Given the description of an element on the screen output the (x, y) to click on. 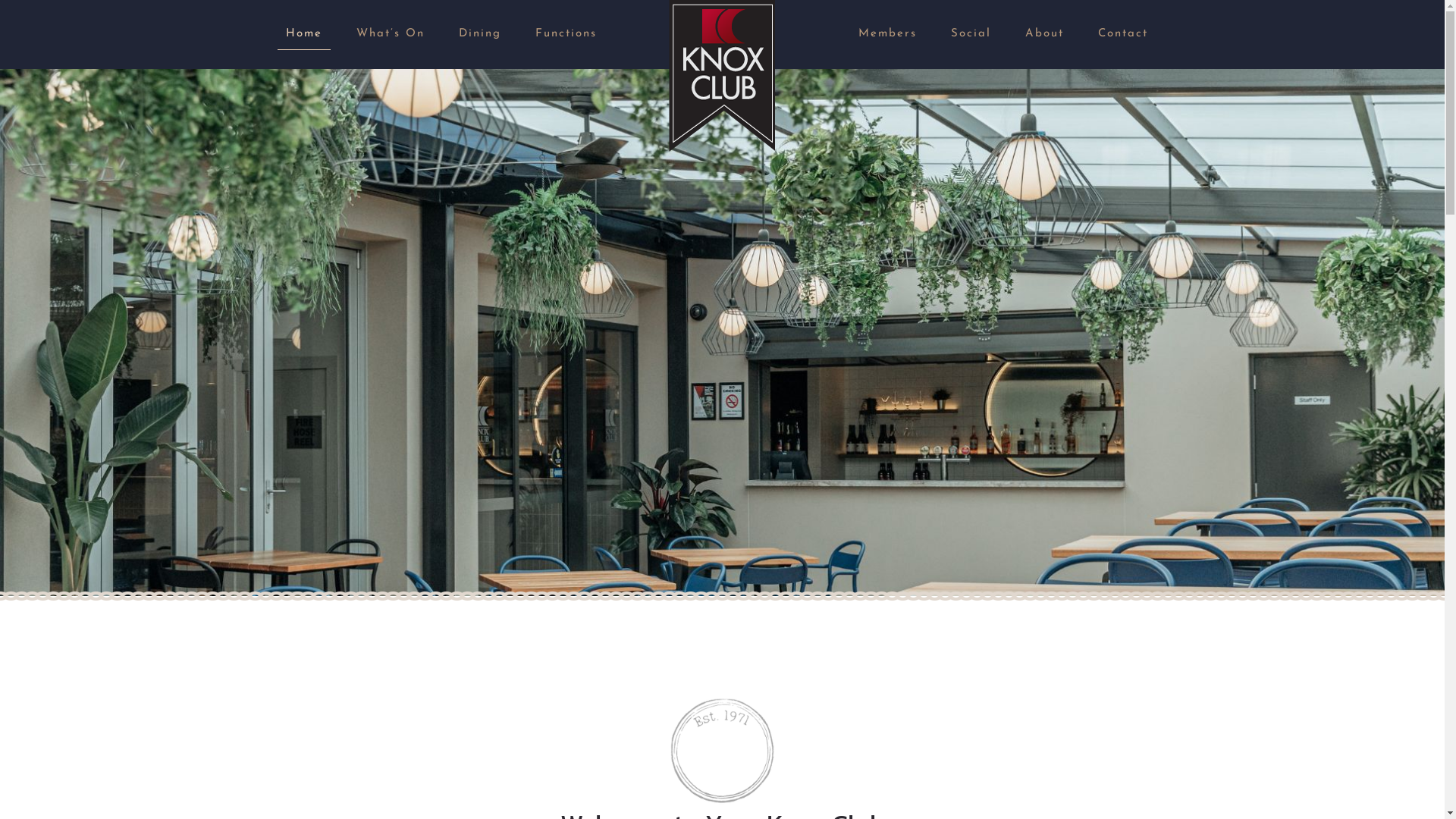
Club By-Laws Element type: text (721, 583)
Gambling Code of Conduct Element type: text (722, 659)
Knox Club | Wantirna South Element type: hover (722, 75)
DLL Photography & Design Element type: text (934, 786)
Privacy Element type: text (721, 602)
Contact Element type: text (1122, 34)
Functions Element type: text (565, 34)
Members Element type: text (887, 34)
About Element type: text (1044, 34)
Financial Report 2021-22 Element type: text (722, 640)
Responsible Serving of Alcohol Element type: text (721, 621)
Home Element type: text (303, 34)
Dining Element type: text (479, 34)
Social Element type: text (970, 34)
